Given the description of an element on the screen output the (x, y) to click on. 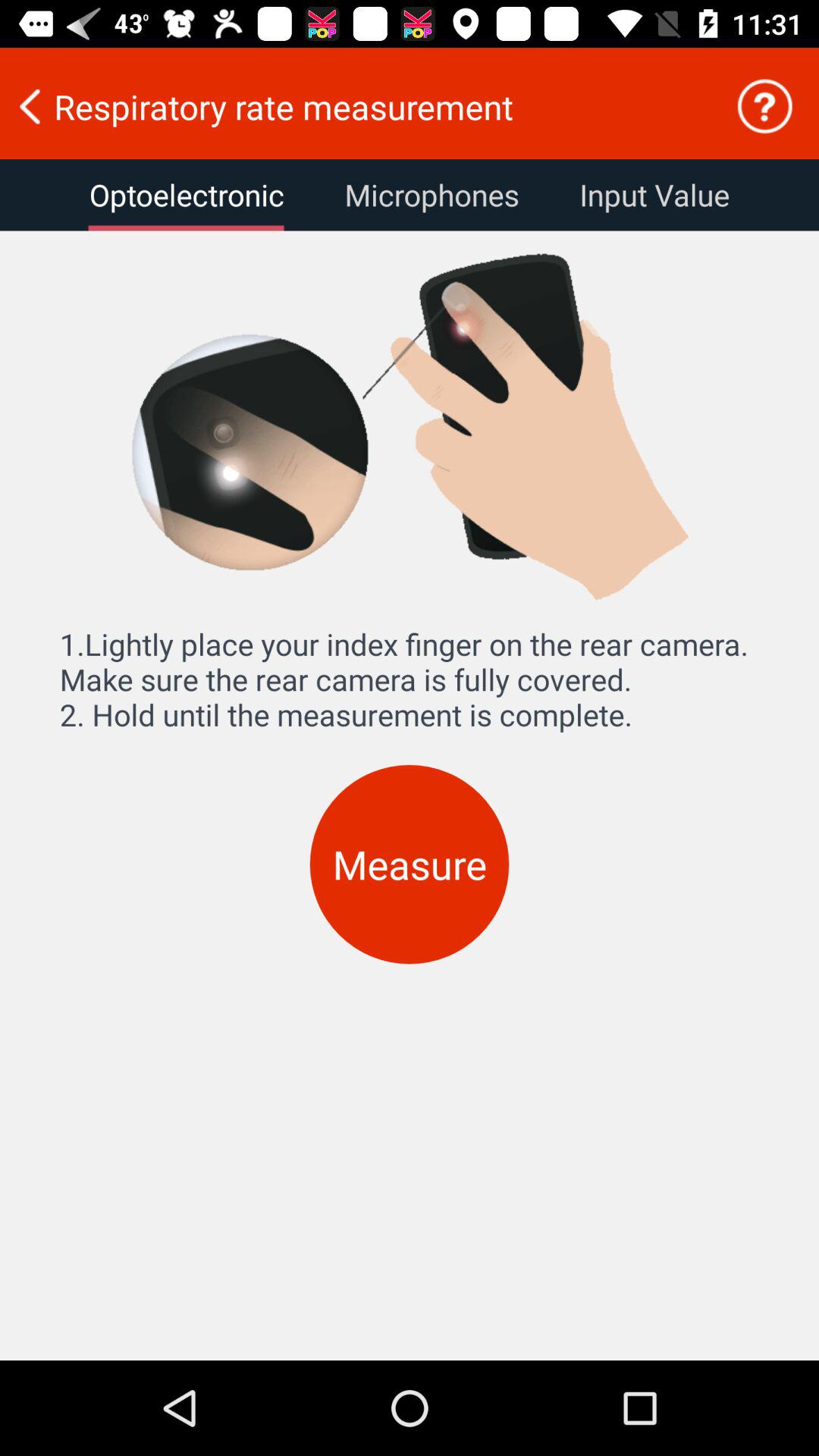
turn off the icon next to the microphones icon (186, 194)
